Given the description of an element on the screen output the (x, y) to click on. 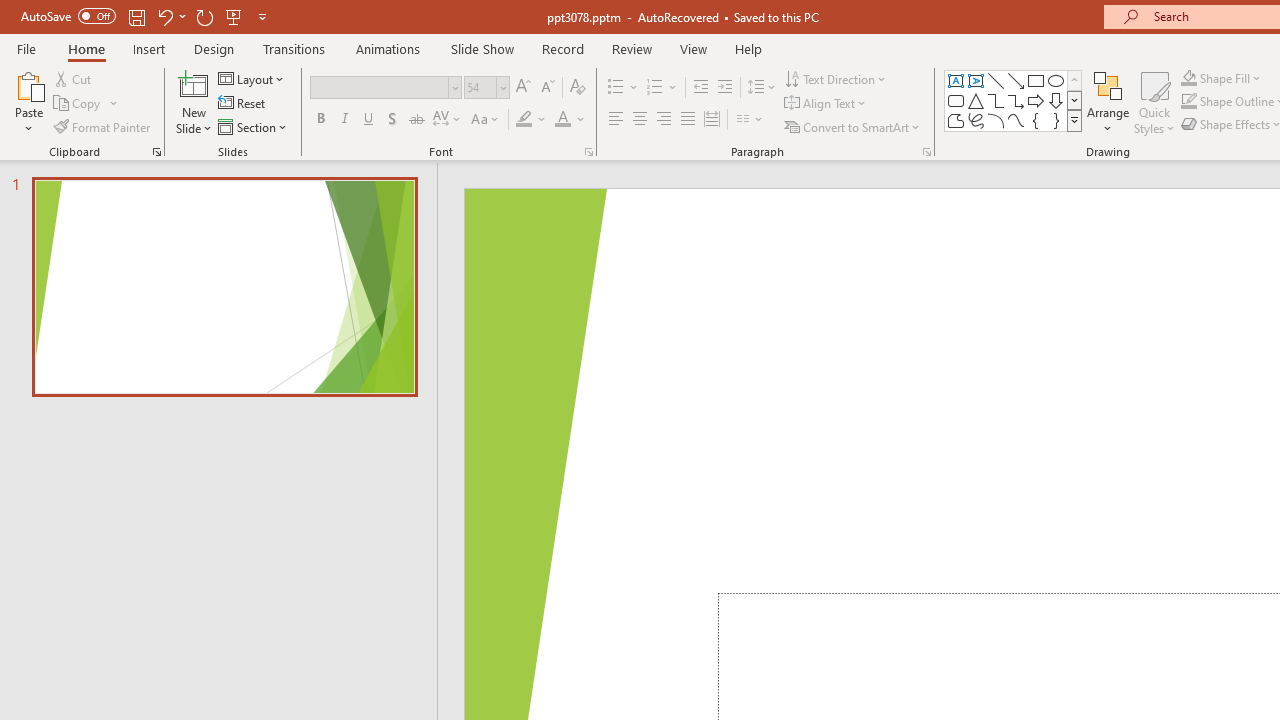
Bullets (623, 87)
Shape Fill (1221, 78)
Text Box (955, 80)
Layout (252, 78)
Paste (28, 84)
Left Brace (1035, 120)
Animations (388, 48)
Freeform: Scribble (975, 120)
Line (995, 80)
Align Left (616, 119)
Shape Fill Dark Green, Accent 2 (1188, 78)
Center (639, 119)
Oval (1055, 80)
Transitions (294, 48)
File Tab (26, 48)
